Given the description of an element on the screen output the (x, y) to click on. 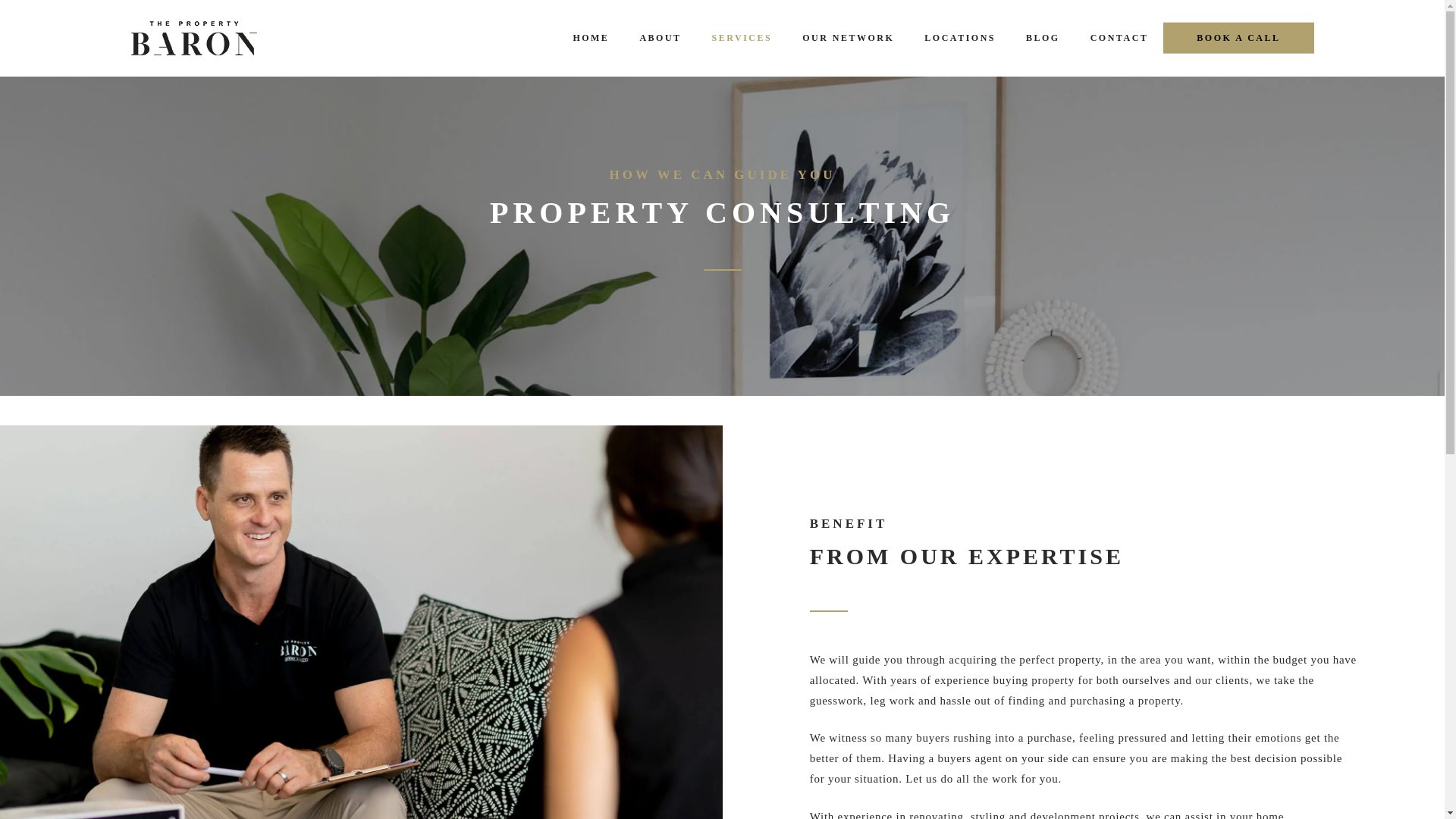
BOOK A CALL (1238, 38)
HOME (590, 38)
CONTACT (1119, 38)
SERVICES (742, 38)
LOCATIONS (959, 38)
ABOUT (659, 38)
OUR NETWORK (847, 38)
BLOG (1042, 38)
